Given the description of an element on the screen output the (x, y) to click on. 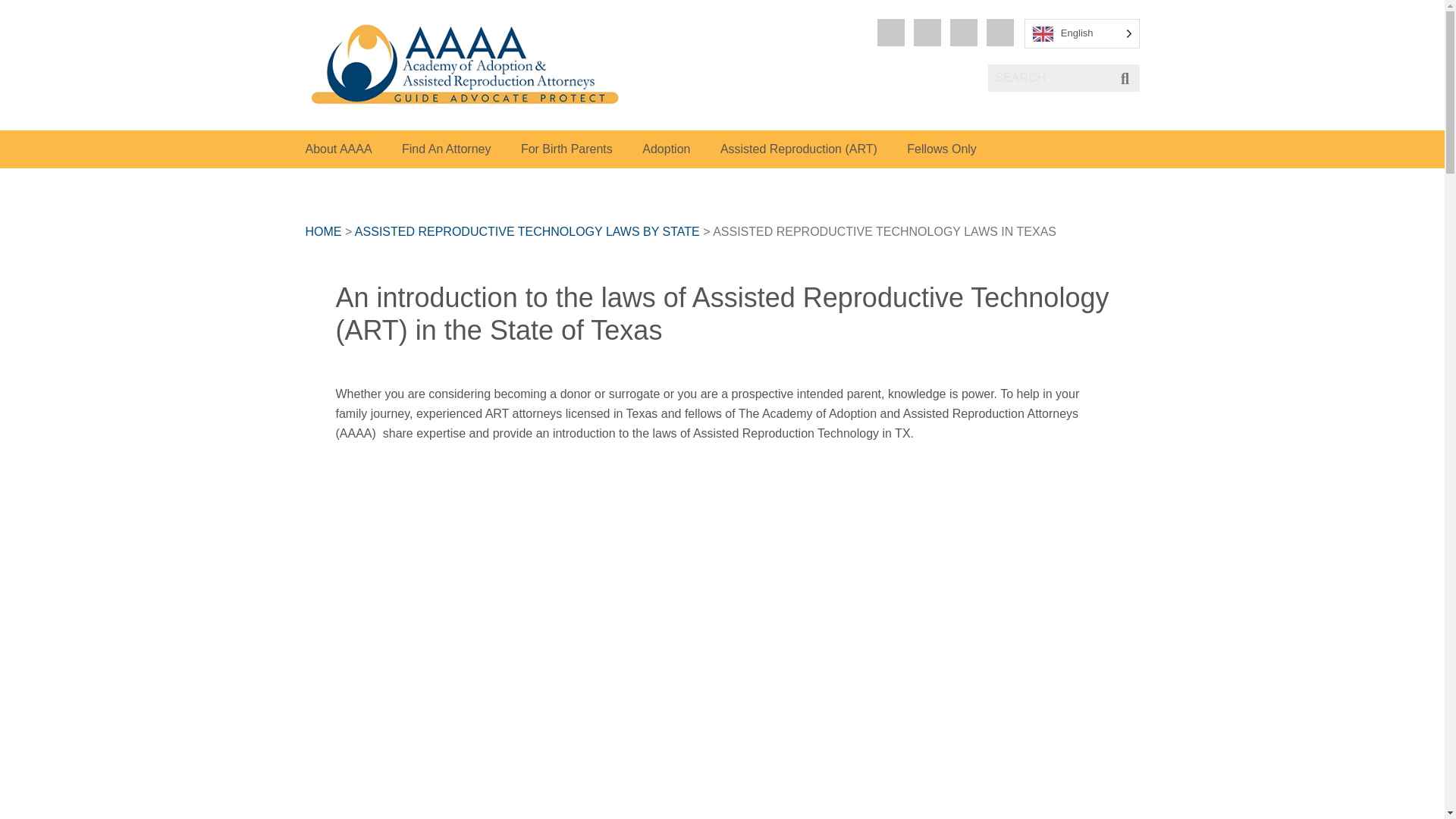
Find An Attorney (445, 149)
About AAAA (337, 149)
Adoption (666, 149)
For Birth Parents (566, 149)
